Given the description of an element on the screen output the (x, y) to click on. 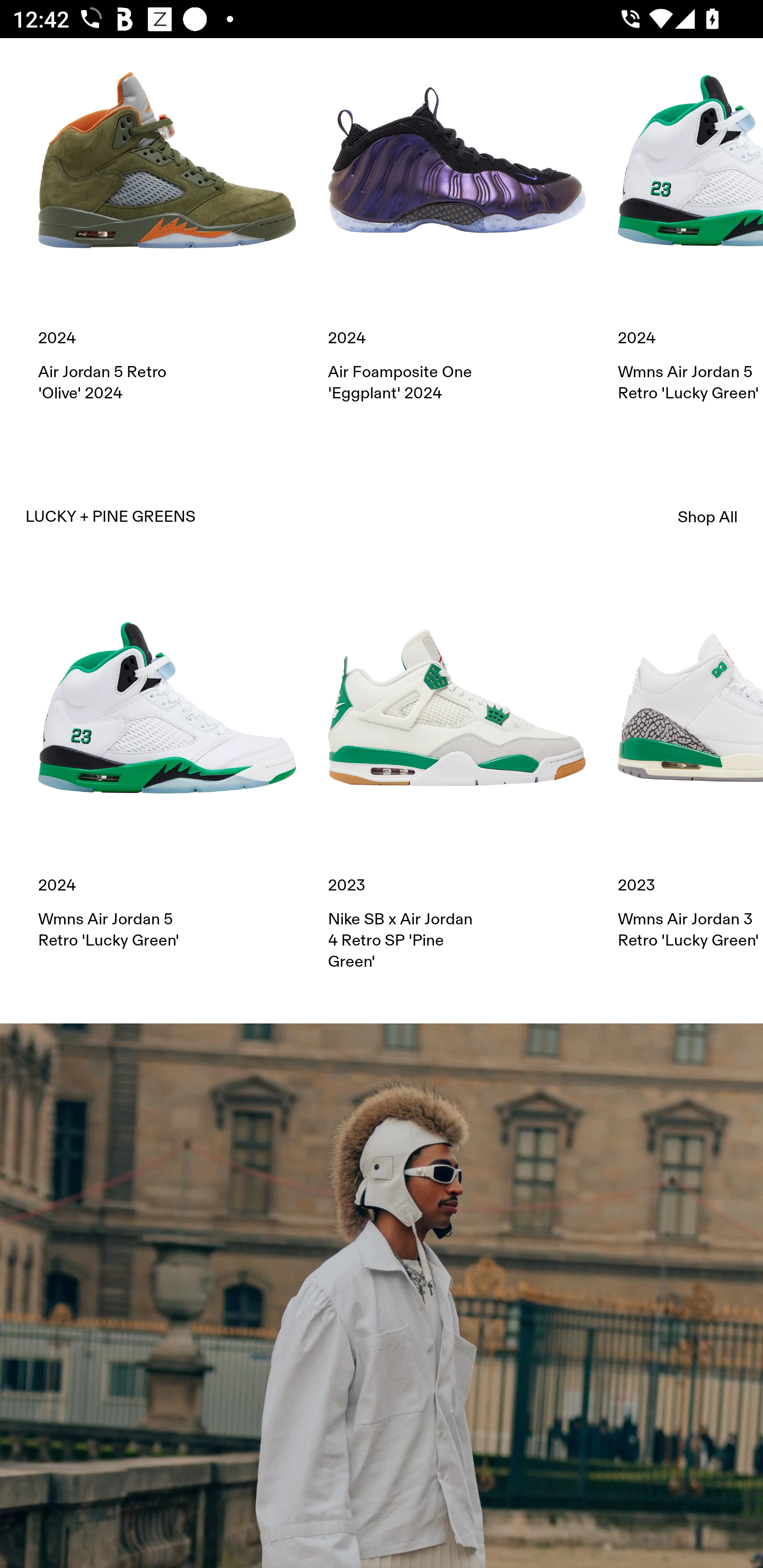
2024 Air Jordan 5 Retro 'Olive' 2024 (167, 220)
2024 Air Foamposite One 'Eggplant' 2024 (456, 220)
2024 Wmns Air Jordan 5 Retro 'Lucky Green' (690, 220)
Shop All (707, 517)
2024 Wmns Air Jordan 5 Retro 'Lucky Green' (167, 764)
2023 Nike SB x Air Jordan 4 Retro SP 'Pine Green' (456, 775)
2023 Wmns Air Jordan 3 Retro 'Lucky Green' (690, 764)
